Given the description of an element on the screen output the (x, y) to click on. 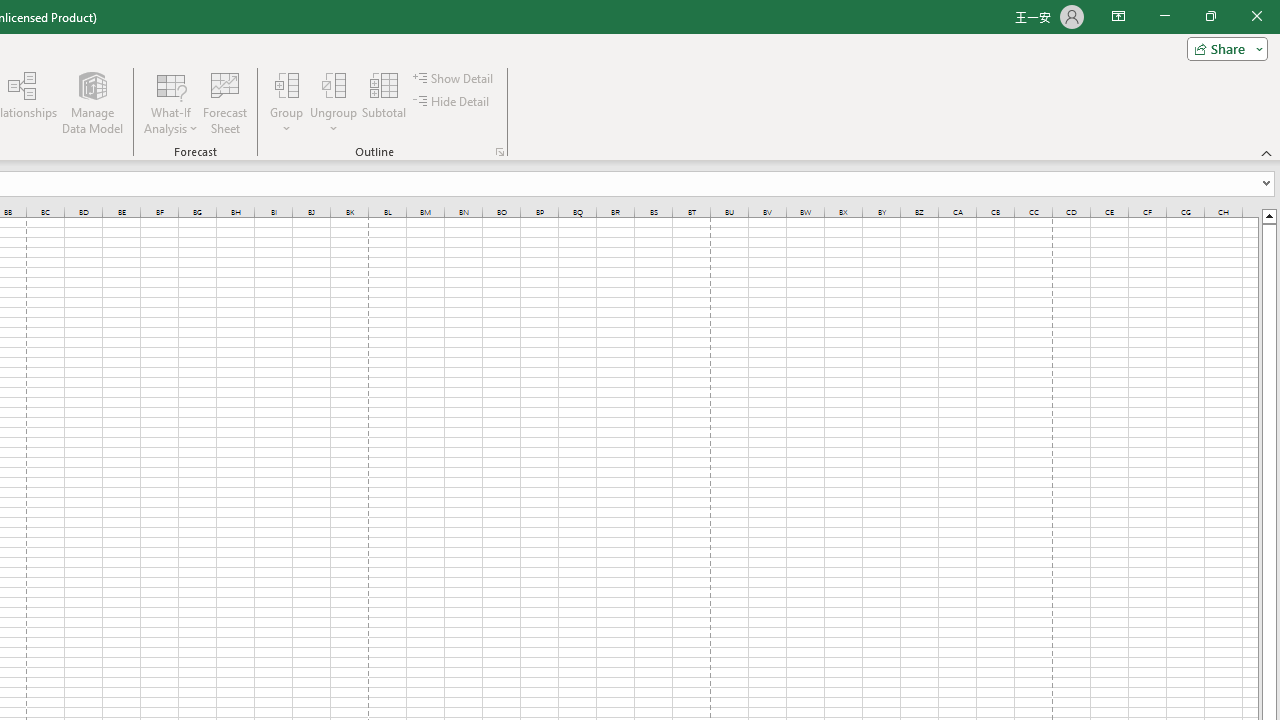
Subtotal (384, 102)
Collapse the Ribbon (1267, 152)
Show Detail (454, 78)
